Given the description of an element on the screen output the (x, y) to click on. 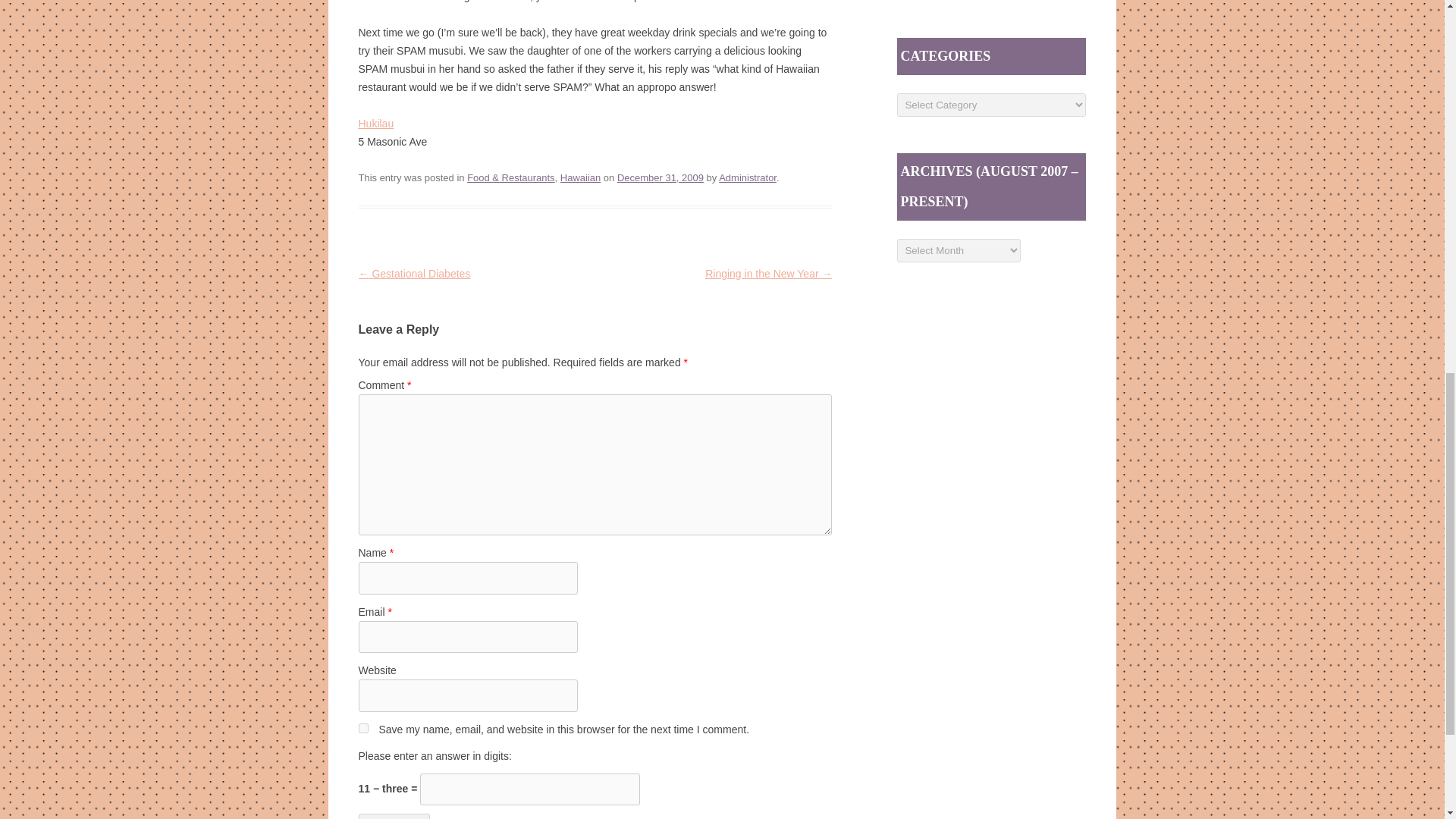
Hawaiian (579, 177)
Post Comment (393, 816)
6:36 pm (660, 177)
yes (363, 728)
Administrator (747, 177)
View all posts by Administrator (747, 177)
December 31, 2009 (660, 177)
Hukilau (375, 123)
Post Comment (393, 816)
